Given the description of an element on the screen output the (x, y) to click on. 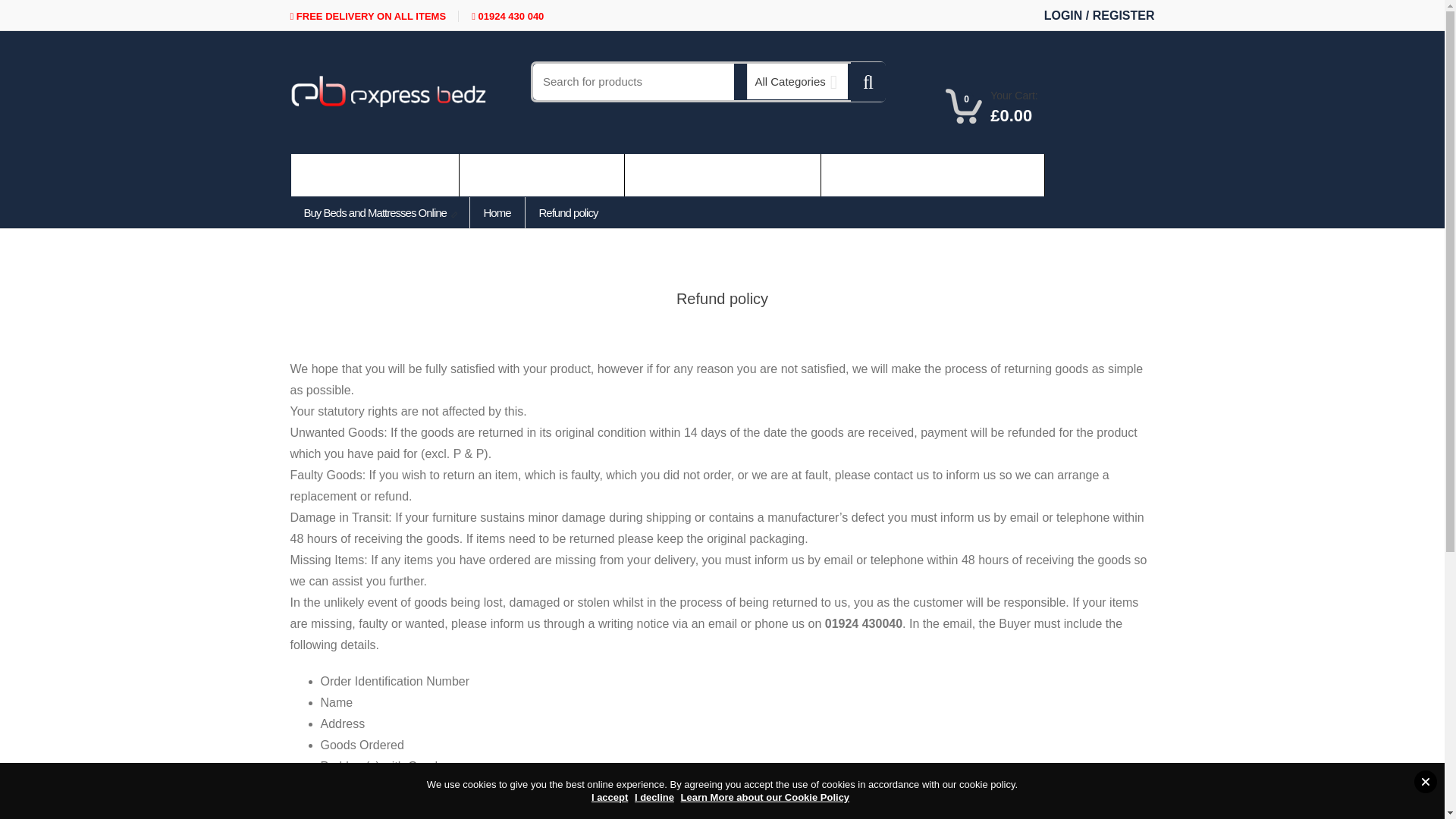
Home (375, 174)
FREE DELIVERY ON ALL ITEMS (373, 16)
Children's Beds (933, 174)
Mattresses (722, 174)
01924 430 040 (507, 16)
Beds (542, 174)
Mattresses (722, 174)
Home (375, 174)
All Categories (799, 81)
Buy Beds and Mattresses Online (378, 212)
Beds (542, 174)
